Given the description of an element on the screen output the (x, y) to click on. 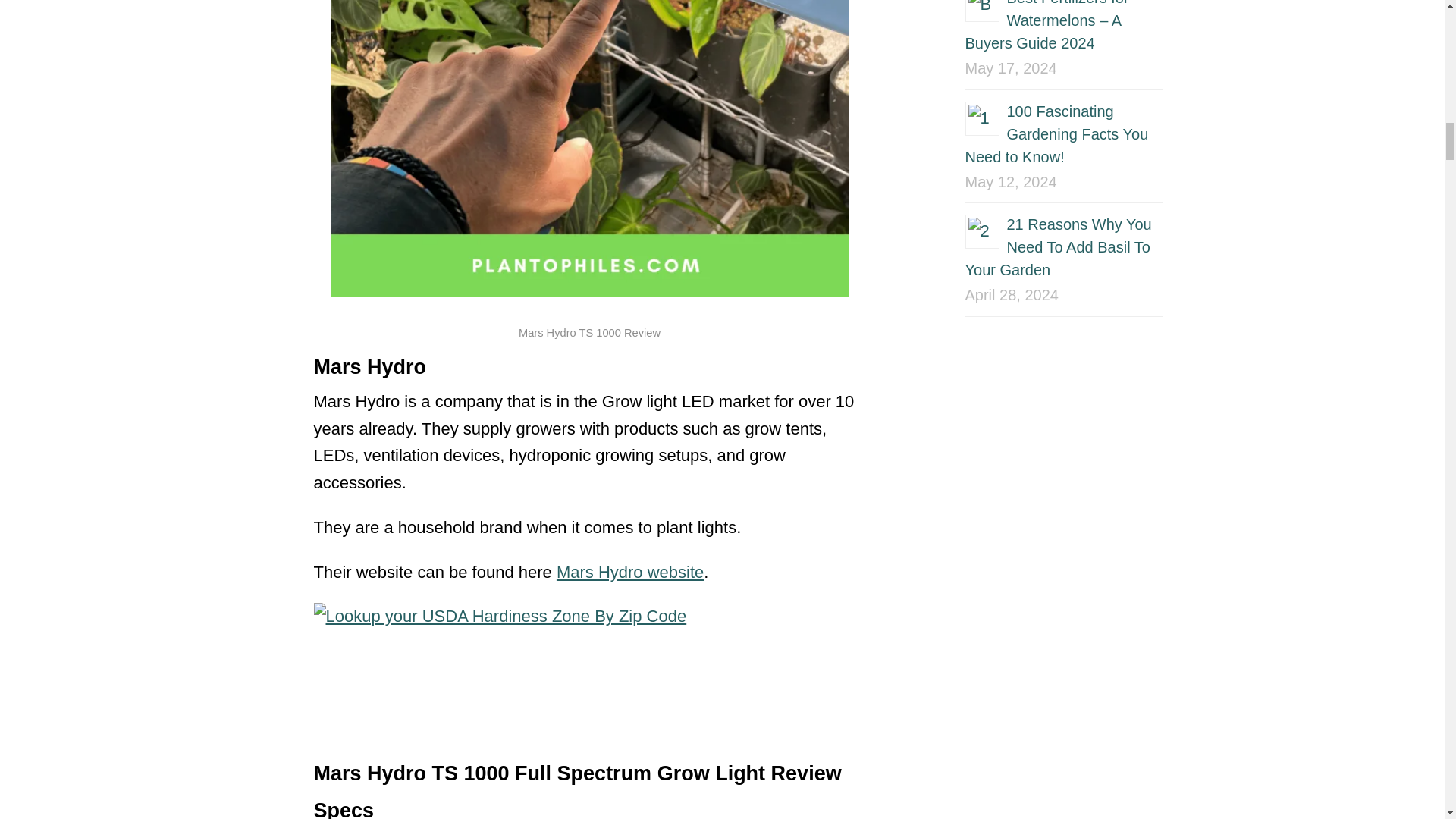
Lookup your USDA Hardiness Zone By Zip Code (590, 671)
